Given the description of an element on the screen output the (x, y) to click on. 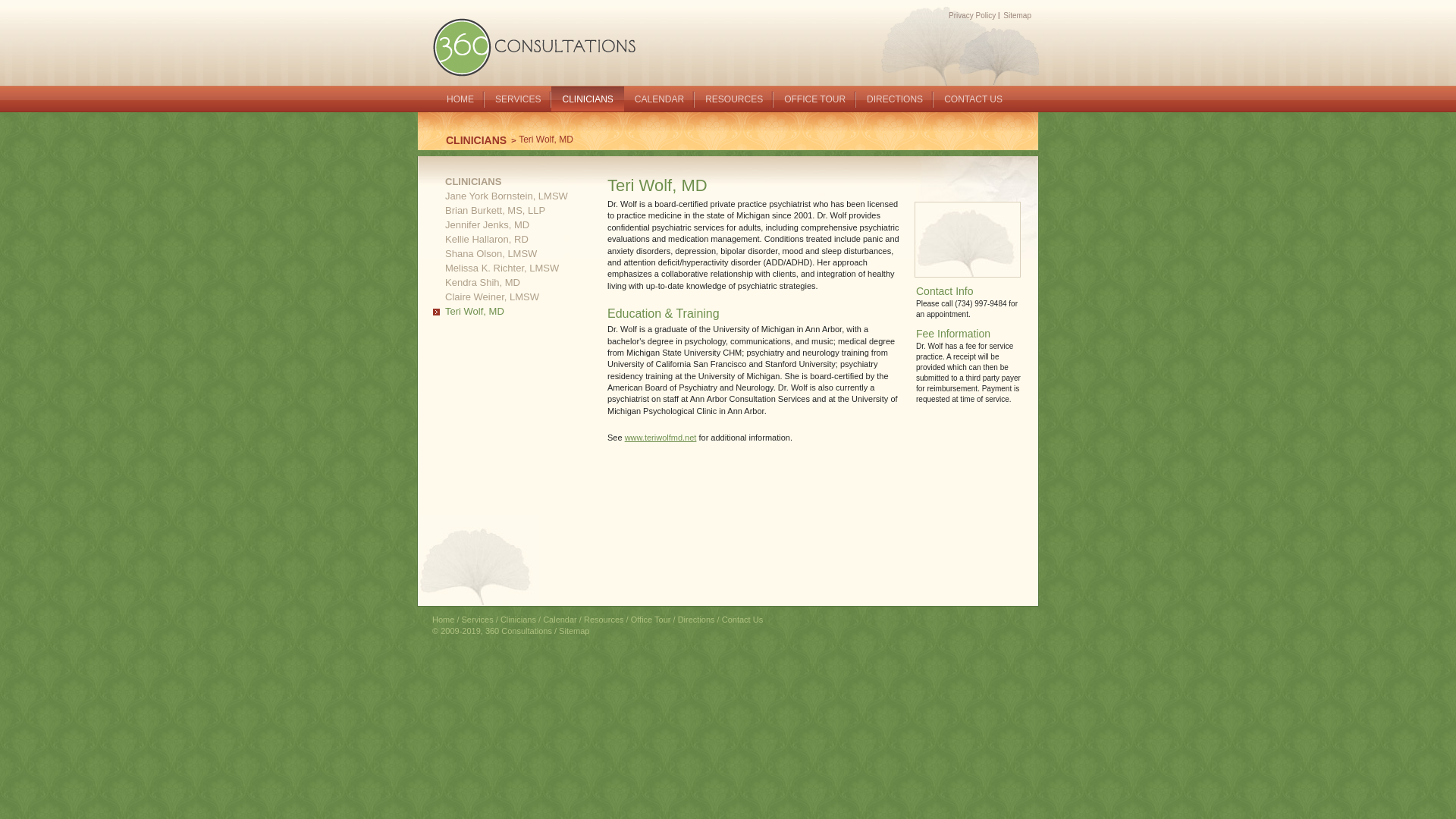
Contact Us Element type: text (741, 619)
CLINICIANS Element type: text (467, 181)
Office Tour Element type: text (650, 619)
DIRECTIONS Element type: text (894, 94)
Brian Burkett, MS, LLP Element type: text (489, 210)
RESOURCES Element type: text (733, 94)
CONTACT US Element type: text (973, 94)
Resources Element type: text (603, 619)
Sitemap Element type: text (573, 630)
OFFICE TOUR Element type: text (814, 94)
Jane York Bornstein, LMSW Element type: text (500, 195)
Sitemap Element type: text (1017, 15)
Claire Weiner, LMSW Element type: text (486, 296)
Kellie Hallaron, RD Element type: text (480, 238)
Clinicians Element type: text (518, 619)
Jennifer Jenks, MD Element type: text (481, 224)
Melissa K. Richter, LMSW Element type: text (495, 267)
Directions Element type: text (696, 619)
Shana Olson, LMSW Element type: text (484, 253)
CALENDAR Element type: text (659, 94)
Home Element type: text (443, 619)
www.teriwolfmd.net Element type: text (660, 437)
Calendar Element type: text (559, 619)
Kendra Shih, MD Element type: text (476, 282)
Teri Wolf, MD Element type: text (468, 310)
Privacy Policy Element type: text (971, 15)
SERVICES Element type: text (517, 94)
CLINICIANS Element type: text (476, 140)
Services Element type: text (477, 619)
CLINICIANS Element type: text (587, 102)
360 Consultations Element type: hover (538, 45)
HOME Element type: text (460, 94)
